Given the description of an element on the screen output the (x, y) to click on. 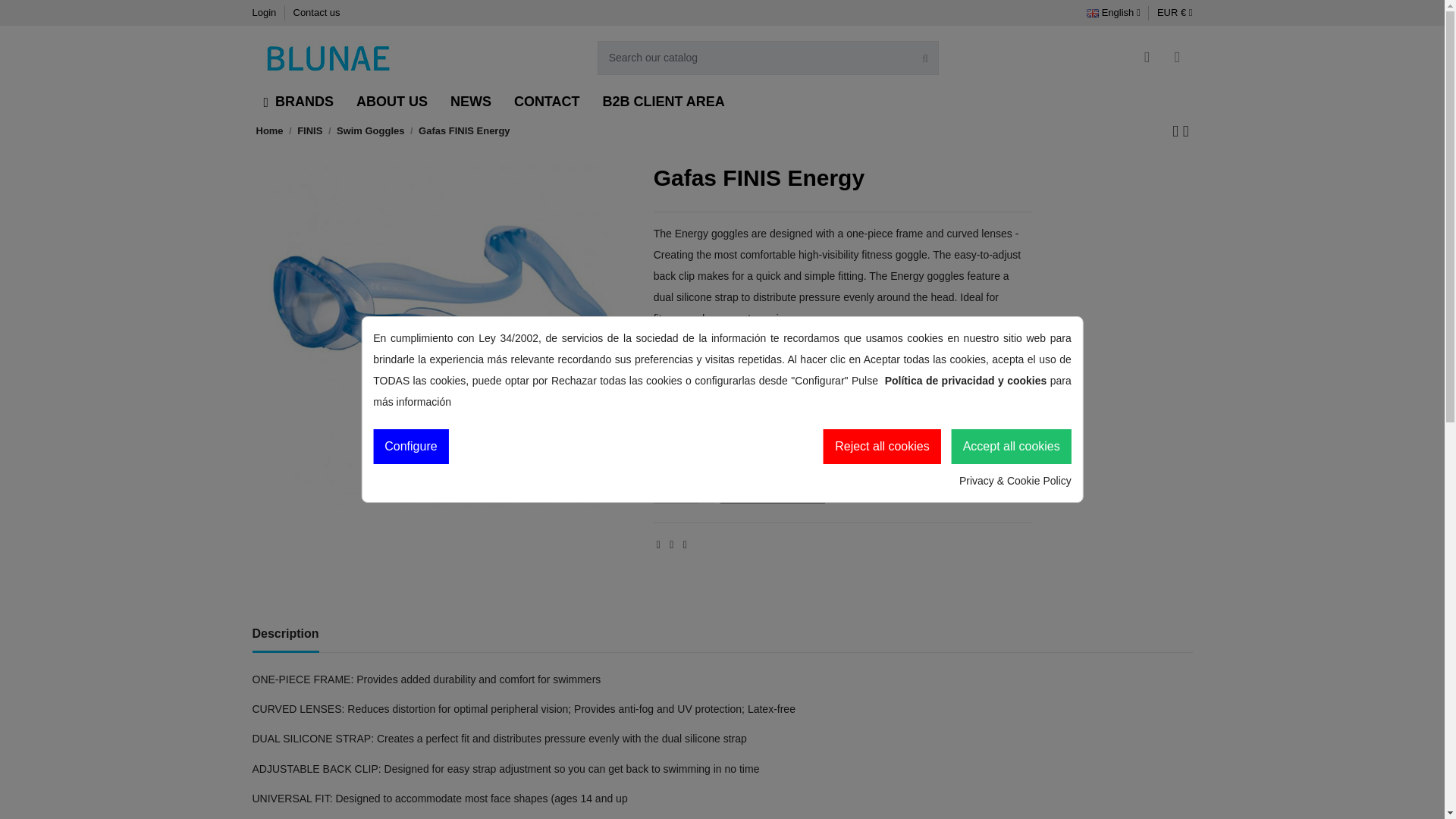
Login (264, 12)
BRANDS (298, 101)
1 (675, 484)
Gafas FINIS Energy (439, 336)
Contact us (315, 12)
English (1113, 12)
Log in to your customer account (1147, 57)
